Given the description of an element on the screen output the (x, y) to click on. 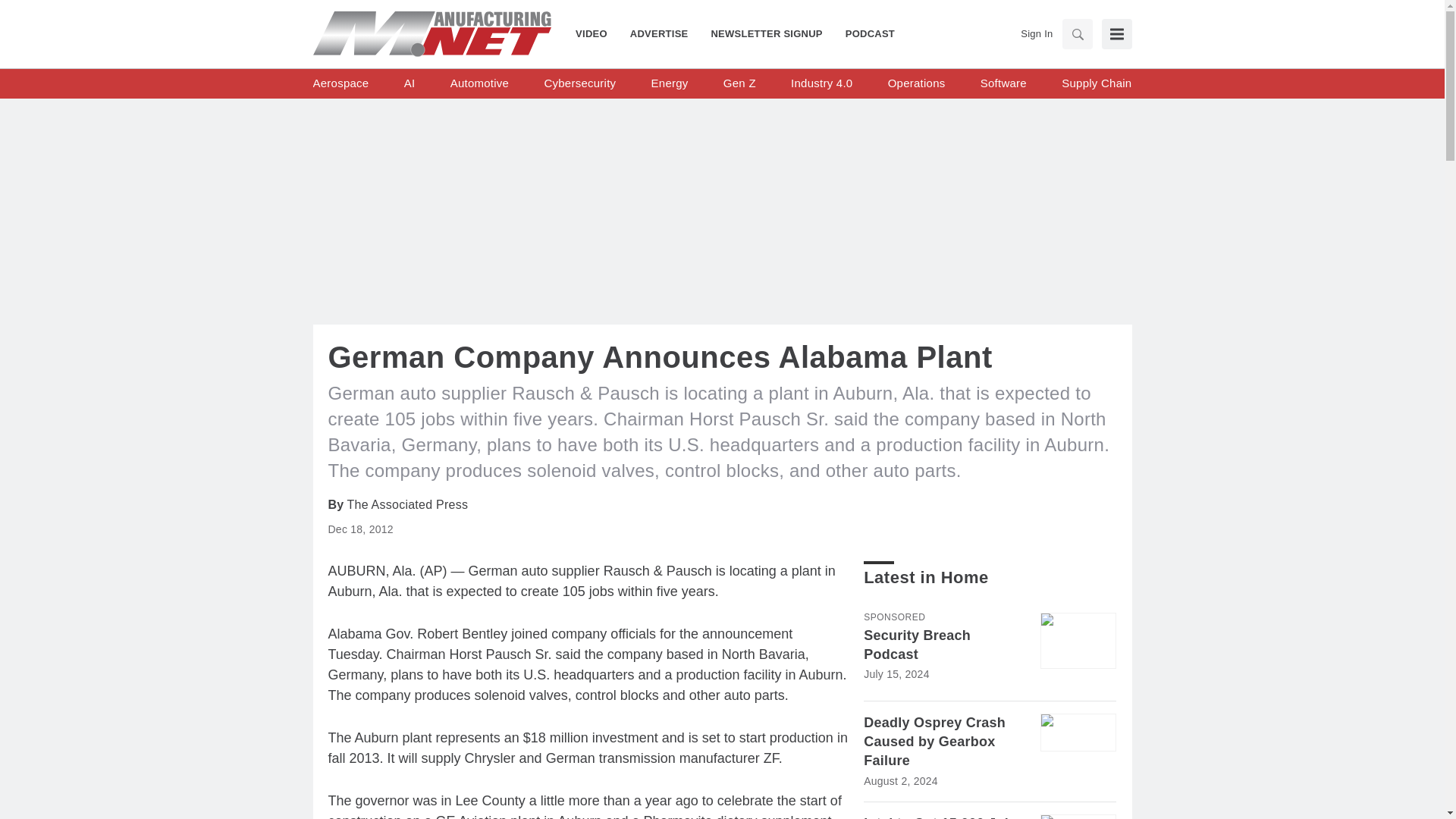
NEWSLETTER SIGNUP (765, 33)
ADVERTISE (659, 33)
Cybersecurity (579, 83)
Sponsored (893, 616)
VIDEO (596, 33)
Aerospace (340, 83)
Sign In (1036, 33)
Automotive (479, 83)
Supply Chain (1096, 83)
PODCAST (864, 33)
Energy (669, 83)
Operations (916, 83)
Industry 4.0 (820, 83)
Gen Z (739, 83)
Software (1002, 83)
